Given the description of an element on the screen output the (x, y) to click on. 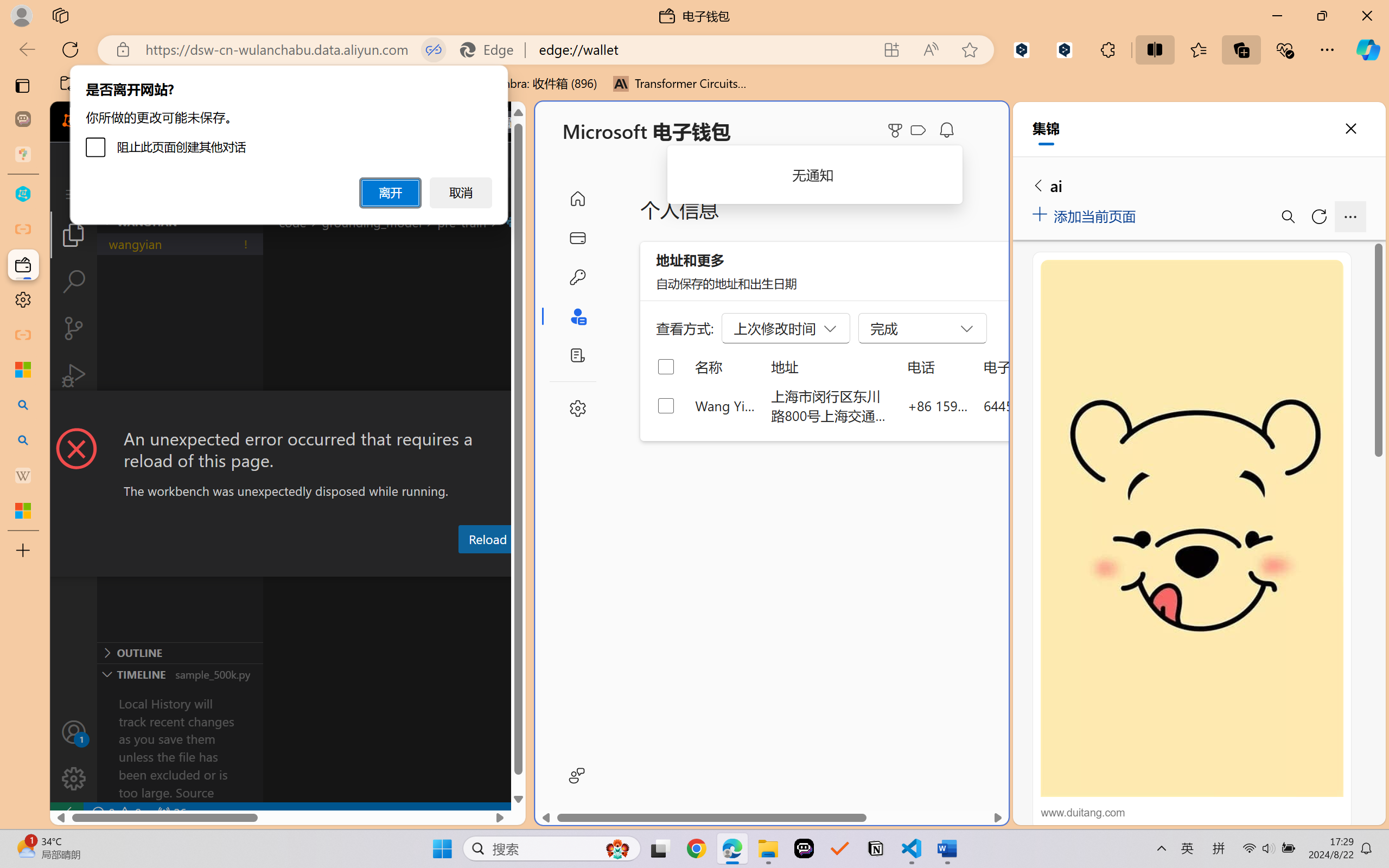
Accounts - Sign in requested (73, 732)
Close Dialog (520, 410)
Timeline Section (179, 673)
Class: ___1lmltc5 f1agt3bx f12qytpq (917, 130)
No Problems (115, 812)
644553698@qq.com (1043, 405)
